Given the description of an element on the screen output the (x, y) to click on. 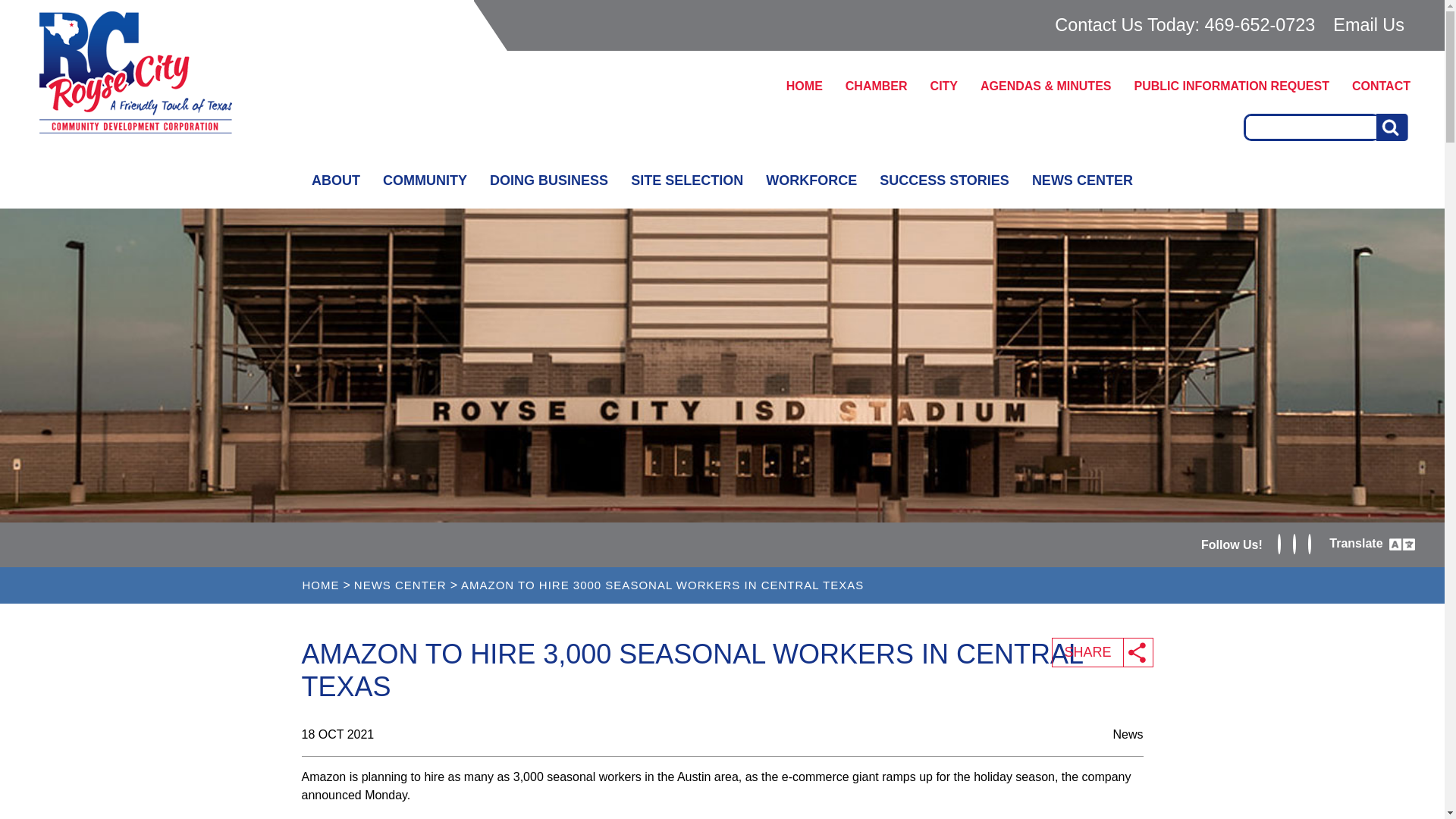
Contact Us Today: 469-652-0723 (1181, 25)
Email Us (1368, 24)
CONTACT (1381, 85)
DOING BUSINESS (549, 180)
CHAMBER (876, 85)
SITE SELECTION (687, 180)
CITY (944, 85)
COMMUNITY (425, 180)
HOME (804, 85)
ABOUT (335, 180)
